Given the description of an element on the screen output the (x, y) to click on. 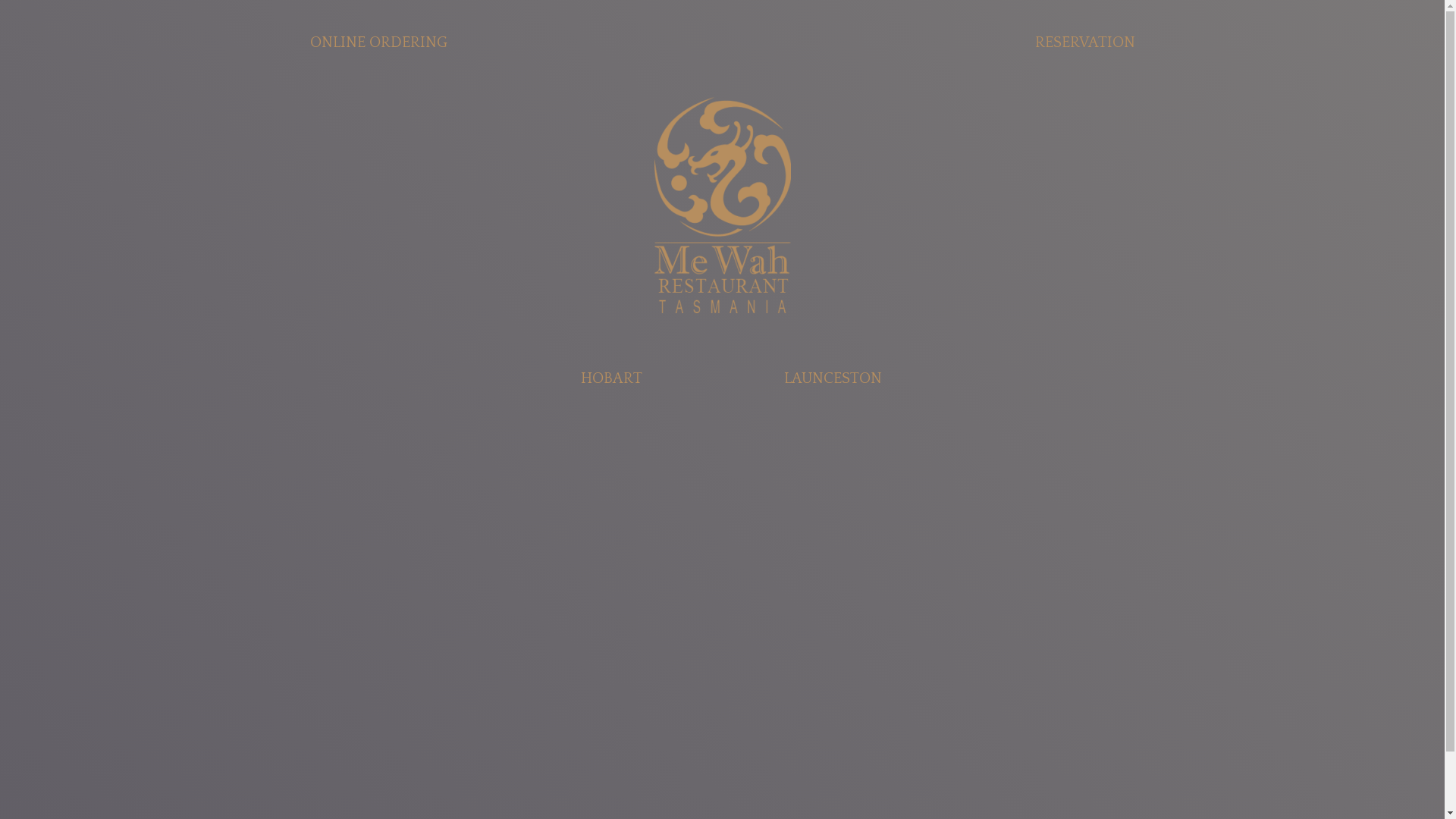
ONLINE ORDERING Element type: text (377, 42)
HOBART Element type: text (611, 378)
LAUNCESTON Element type: text (832, 378)
Me Wah Restaurant Element type: hover (721, 205)
RESERVATION Element type: text (1084, 42)
